Given the description of an element on the screen output the (x, y) to click on. 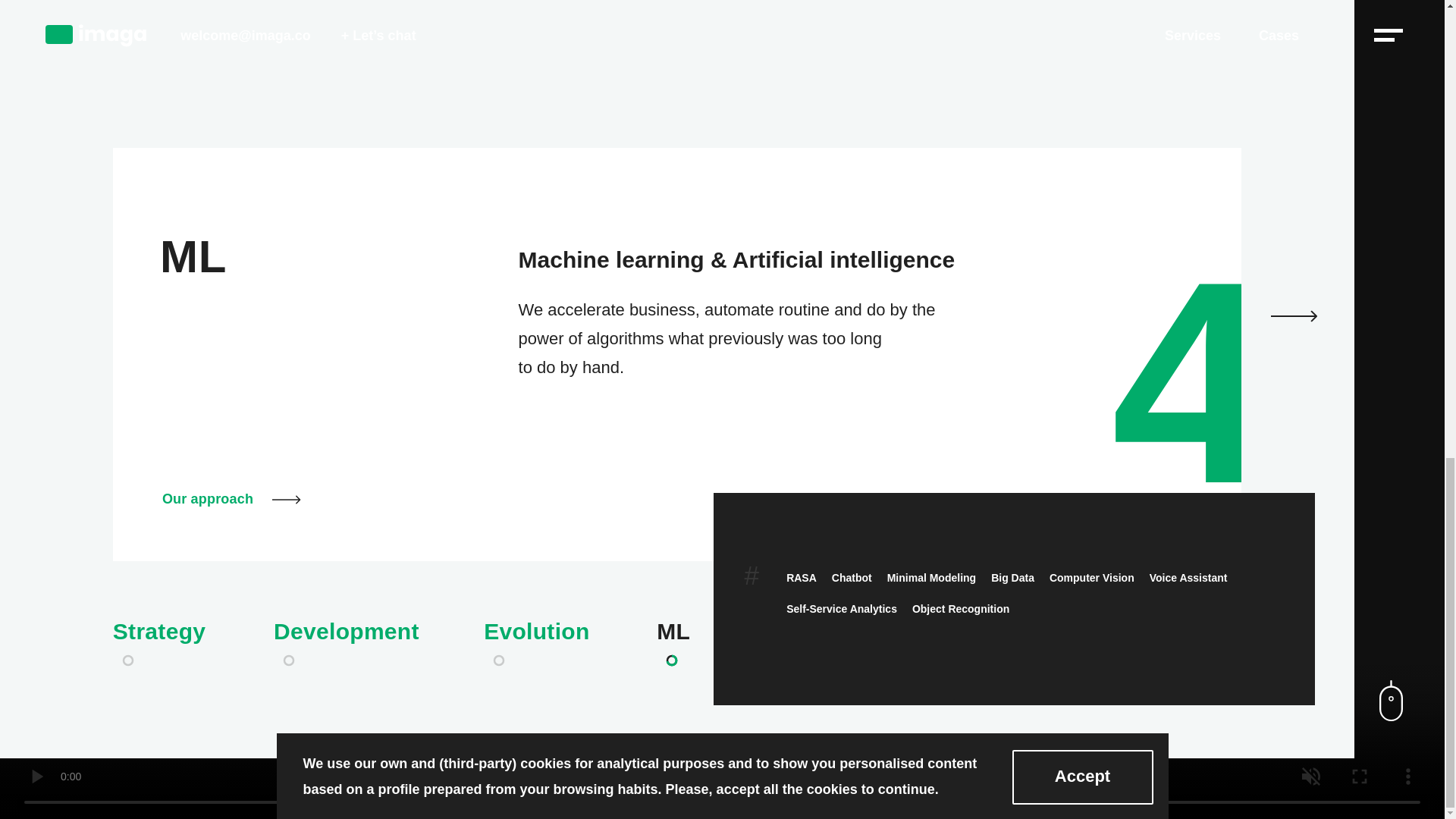
Evolution (545, 645)
ML (684, 645)
Our approach (231, 499)
Strategy (169, 645)
Development (354, 645)
ML (193, 255)
